Given the description of an element on the screen output the (x, y) to click on. 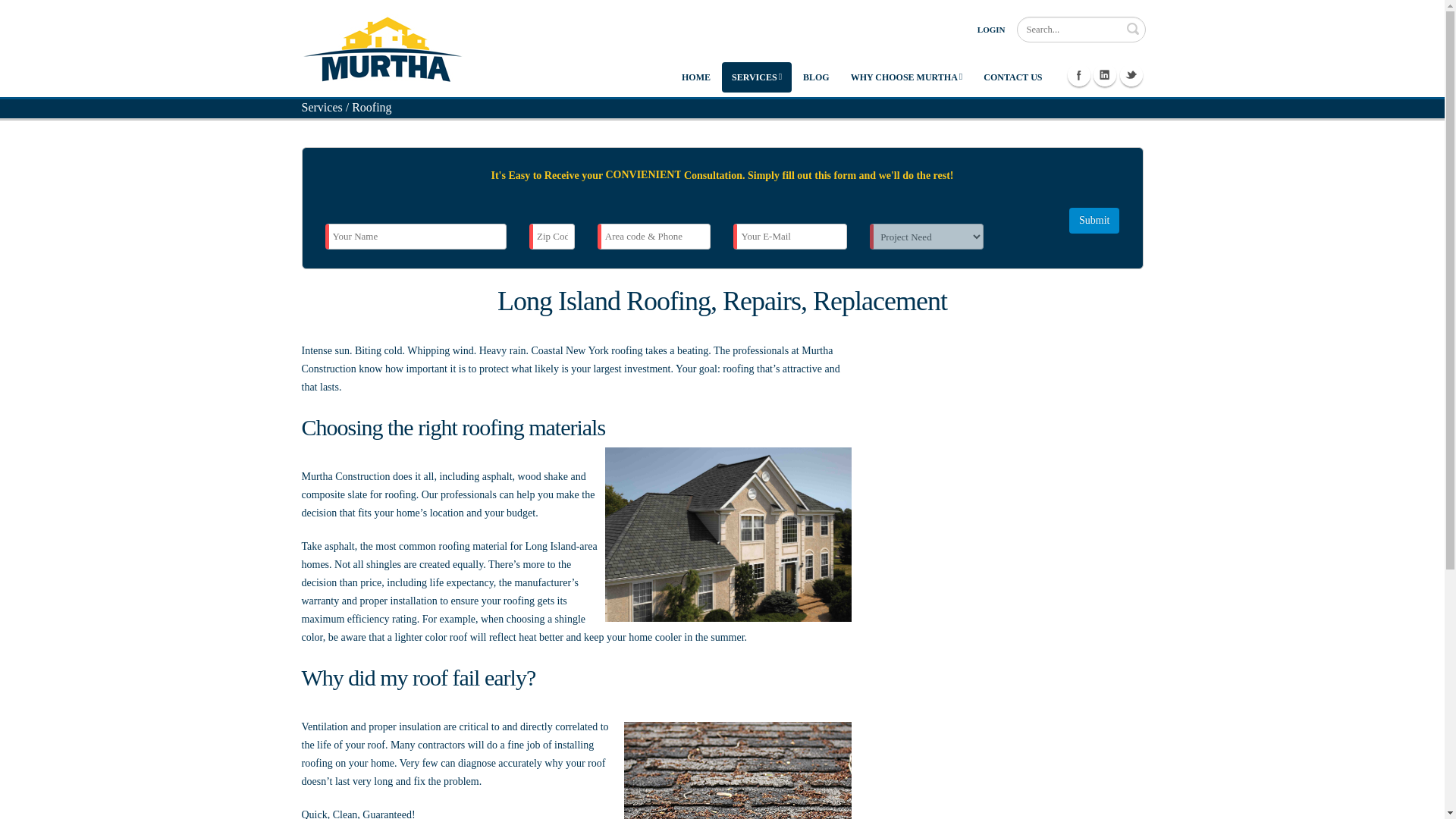
Login (991, 29)
Twitter Icon (1130, 74)
Murtha Construction (382, 46)
Services (321, 106)
Linkedin Icon (1104, 74)
BLOG (816, 77)
Your E-Mail address (790, 236)
Twitter (1130, 74)
Clear search text (1131, 28)
Submit (1093, 220)
HOME (695, 77)
Your Zip Code (552, 236)
Facebook Icon (1078, 74)
CONTACT US (1012, 77)
Project need (926, 236)
